Given the description of an element on the screen output the (x, y) to click on. 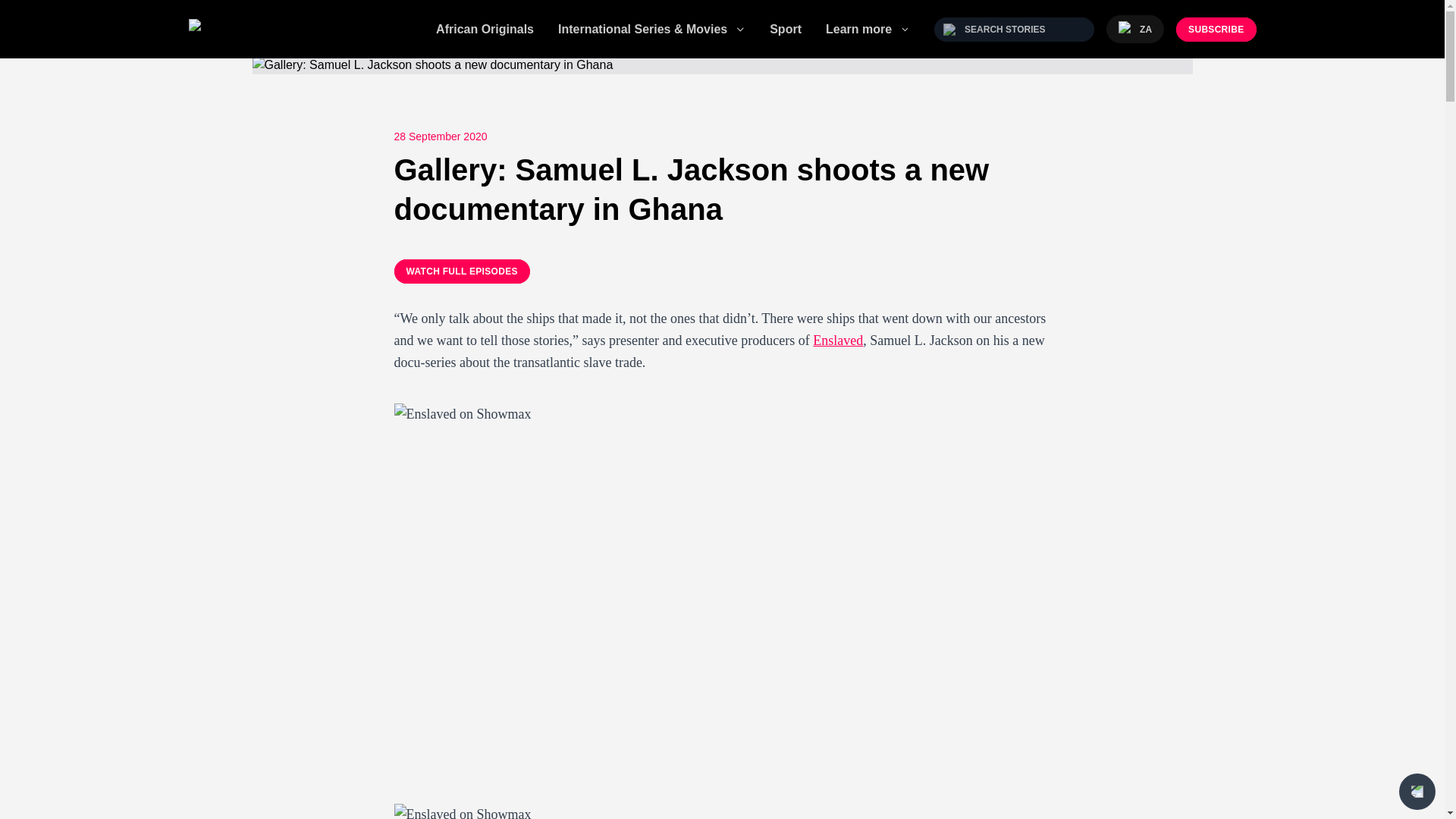
SUBSCRIBE (1215, 28)
Sport (786, 29)
Learn more (867, 28)
African Originals (484, 29)
ZA (1134, 29)
